Given the description of an element on the screen output the (x, y) to click on. 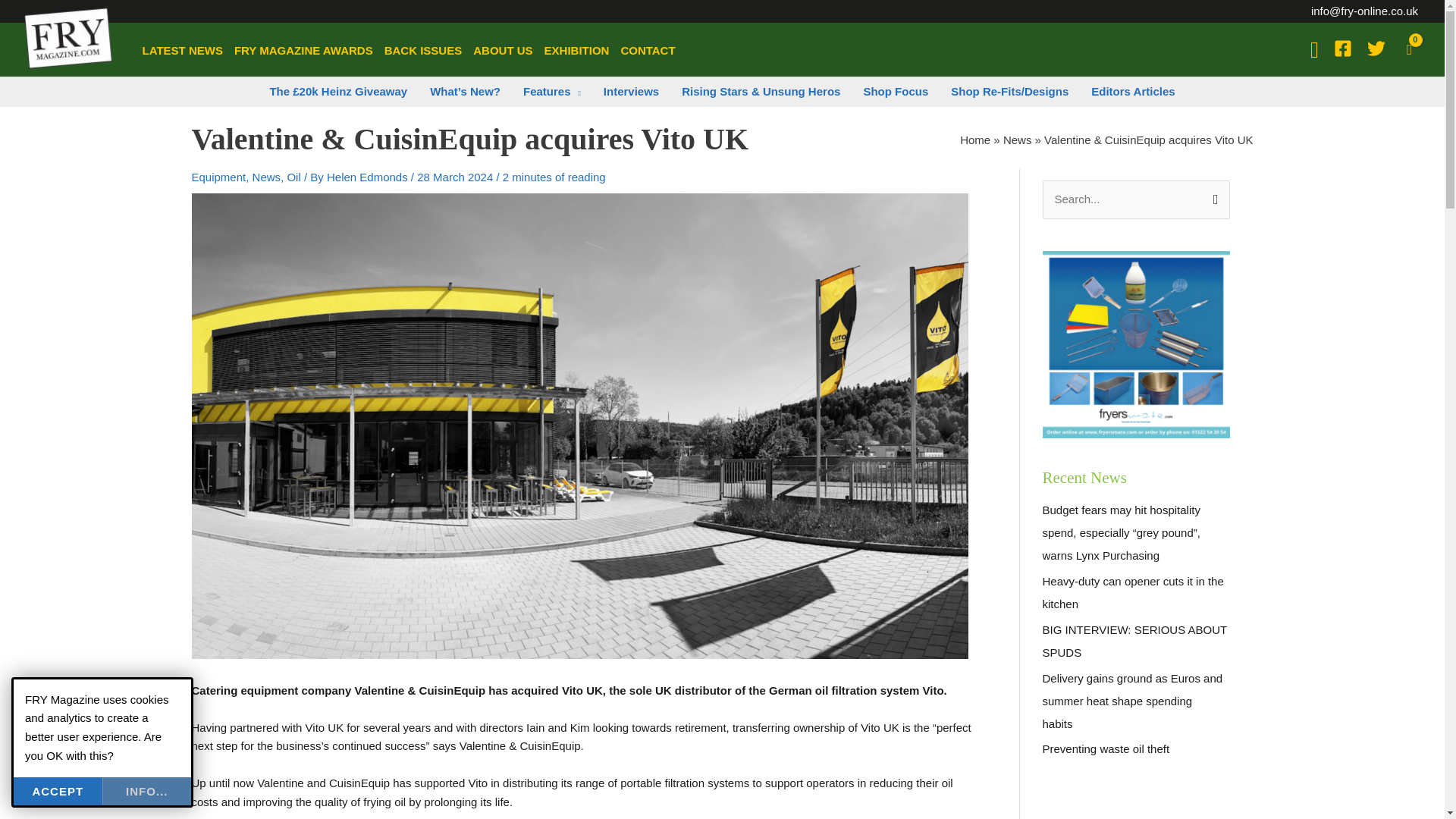
Search (1211, 195)
View all posts by Helen Edmonds (368, 176)
Oil (292, 176)
FRY MAGAZINE AWARDS (303, 50)
Equipment (218, 176)
ABOUT US (502, 50)
Shop Focus (895, 91)
Editors Articles (1133, 91)
CONTACT (647, 50)
EXHIBITION (576, 50)
